Given the description of an element on the screen output the (x, y) to click on. 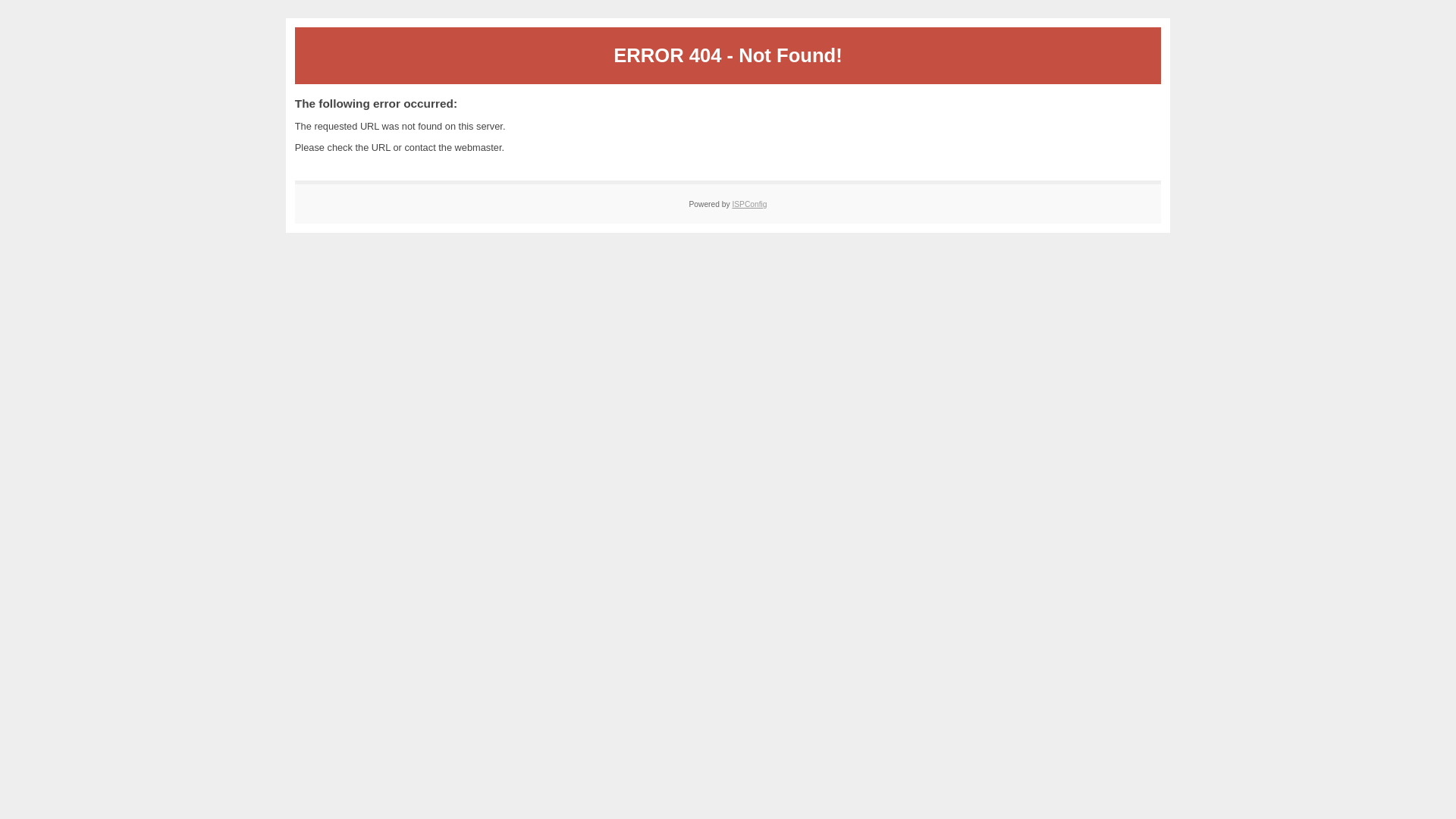
ISPConfig Element type: text (748, 204)
